Given the description of an element on the screen output the (x, y) to click on. 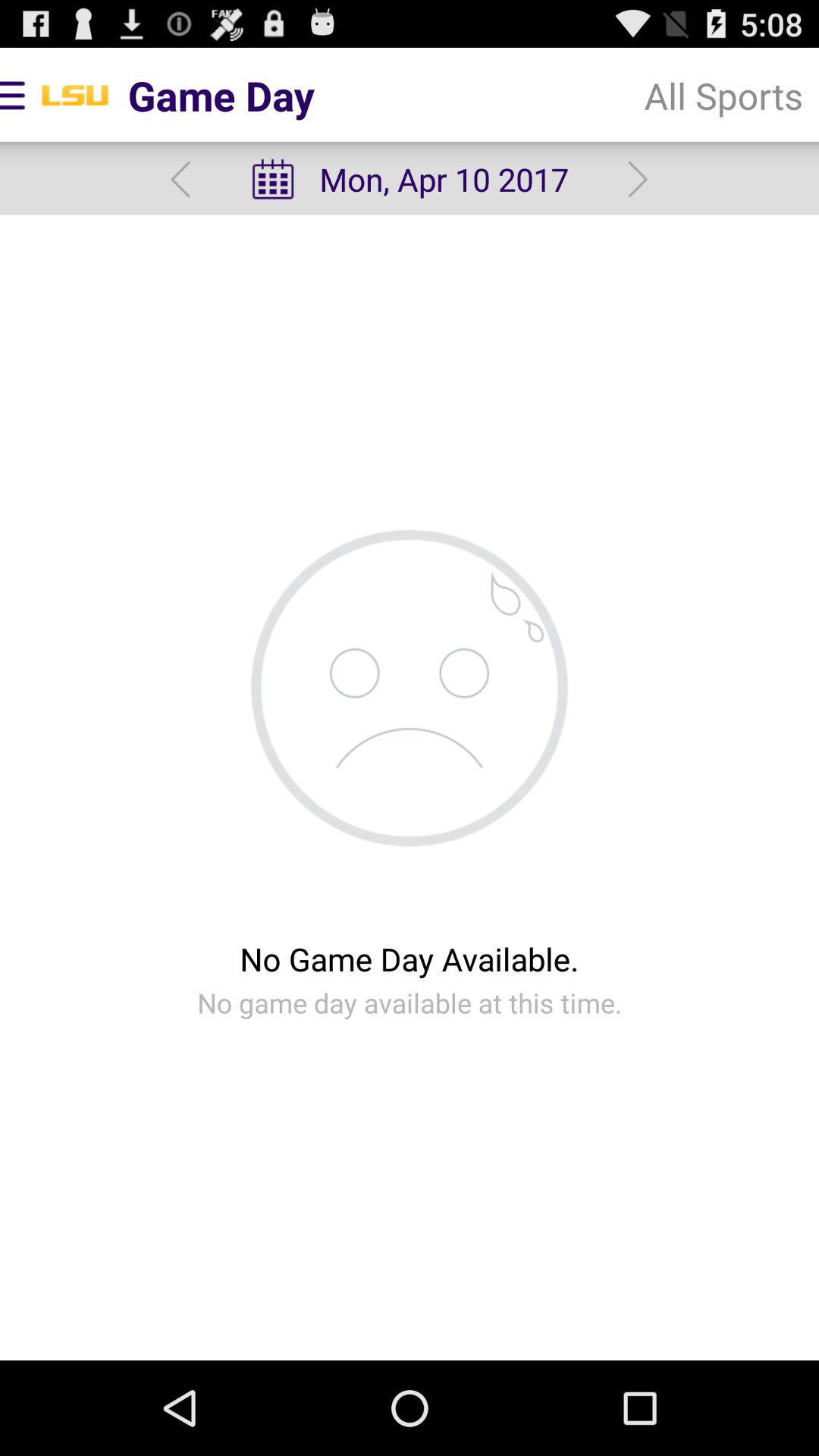
scroll to mon apr 10 app (408, 179)
